Given the description of an element on the screen output the (x, y) to click on. 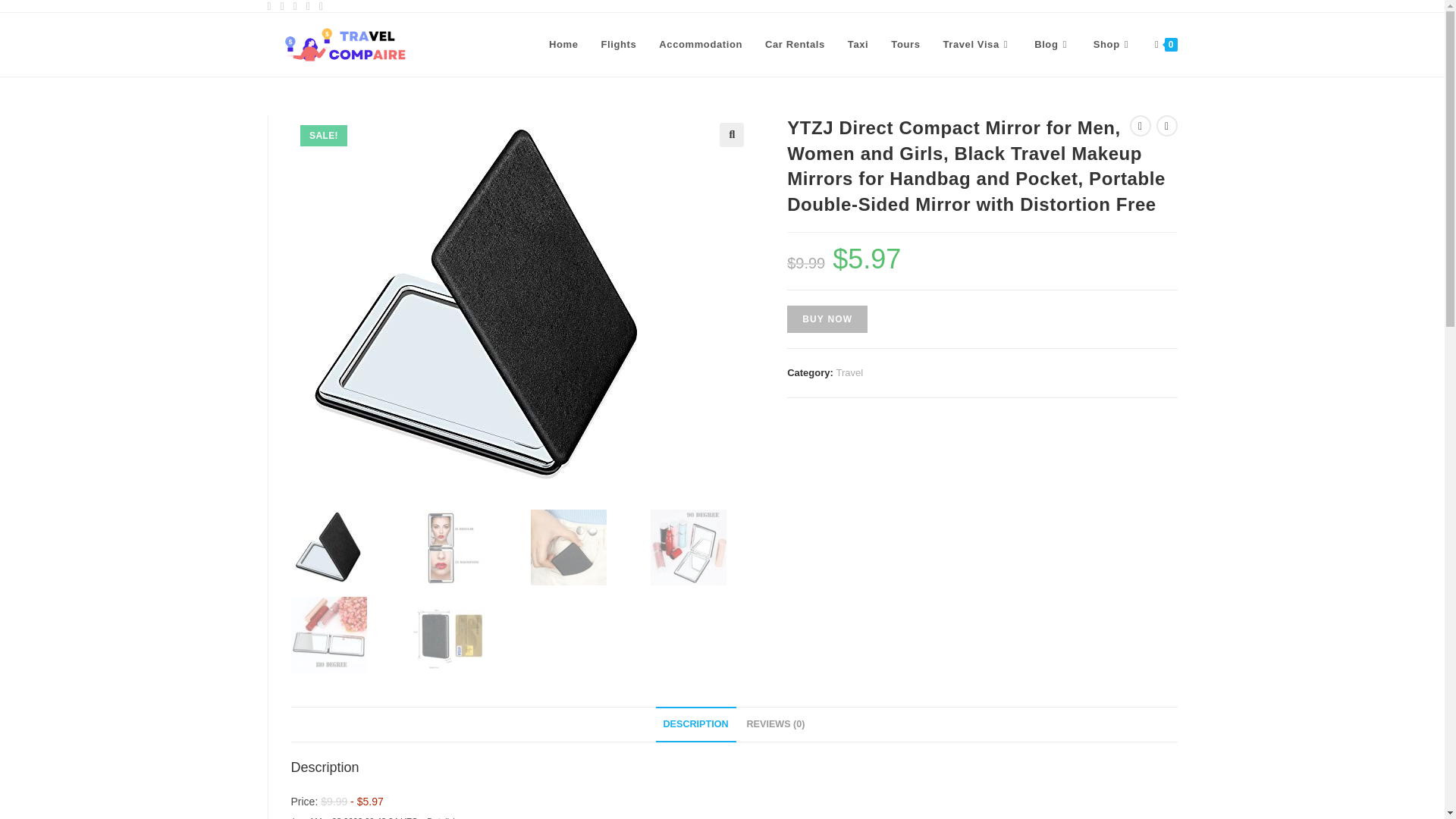
Car Rentals (794, 44)
Blog (1052, 44)
Shop (1111, 44)
Travel Visa (977, 44)
Home (563, 44)
Flights (618, 44)
Tours (905, 44)
Accommodation (700, 44)
